Given the description of an element on the screen output the (x, y) to click on. 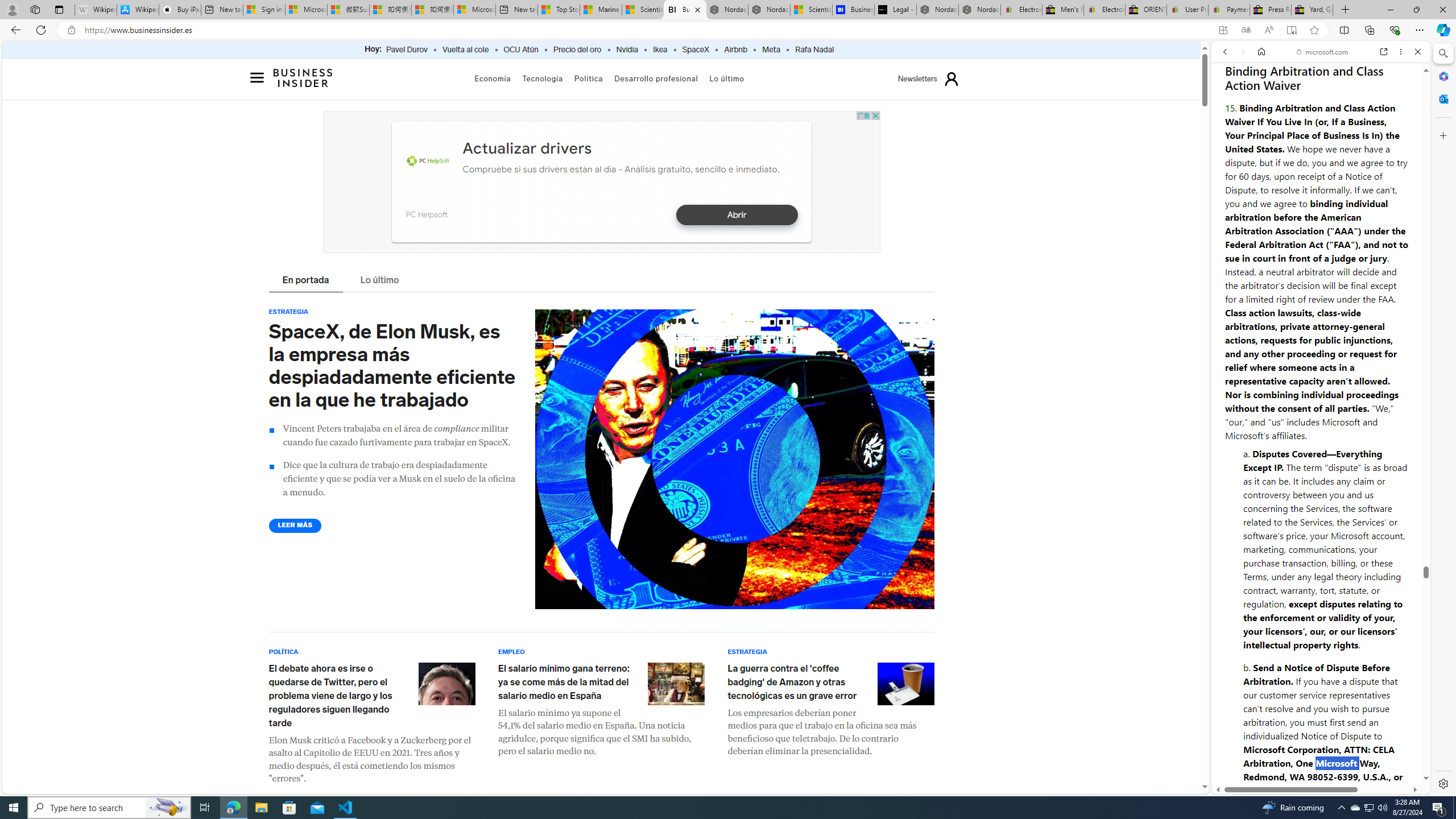
Meta (770, 49)
